Given the description of an element on the screen output the (x, y) to click on. 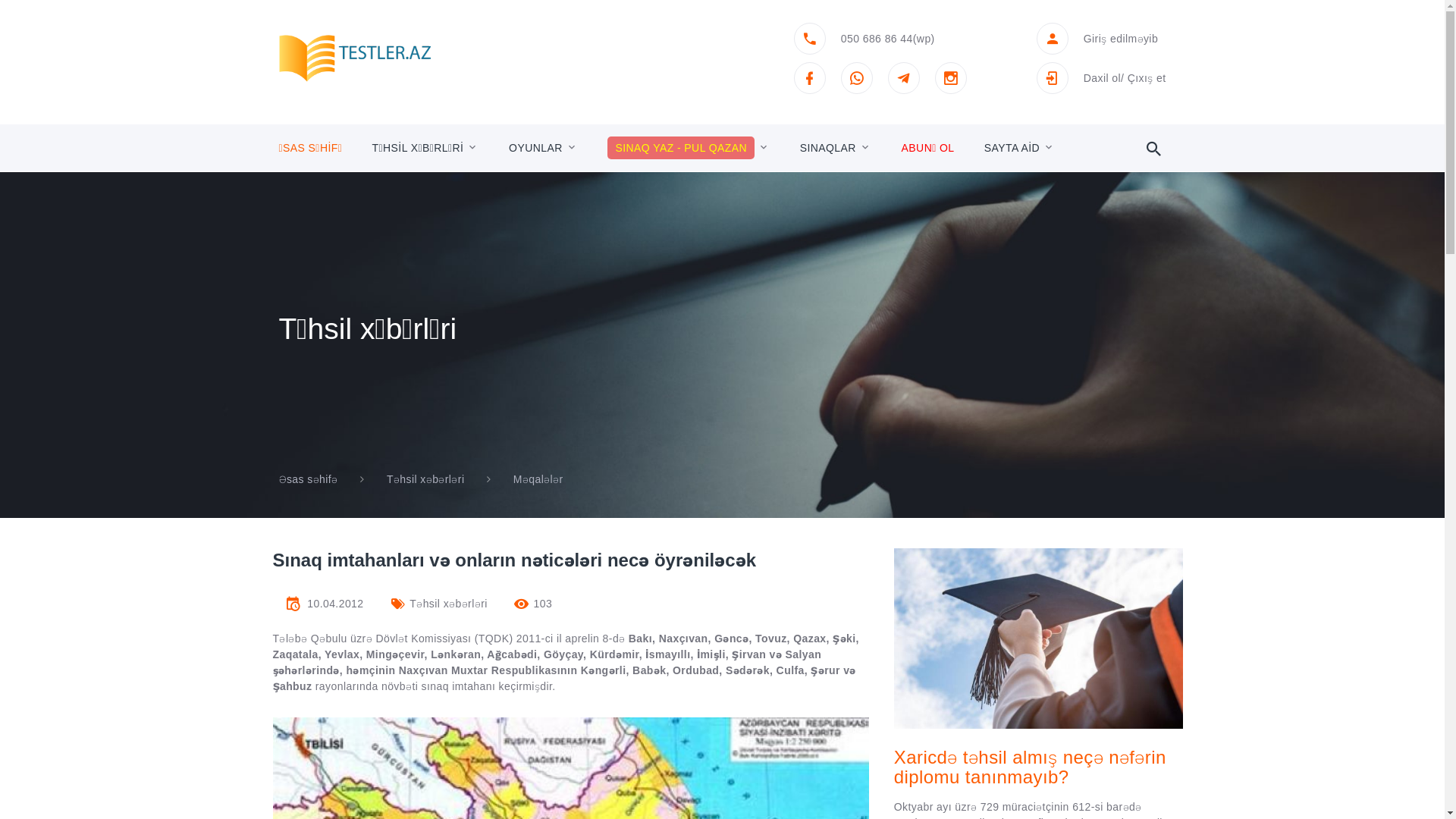
Daxil ol Element type: text (1101, 77)
050 686 86 44 Element type: text (876, 37)
SINAQ YAZ - PUL QAZAN Element type: text (680, 147)
OYUNLAR Element type: text (535, 147)
SINAQLAR Element type: text (828, 147)
